Given the description of an element on the screen output the (x, y) to click on. 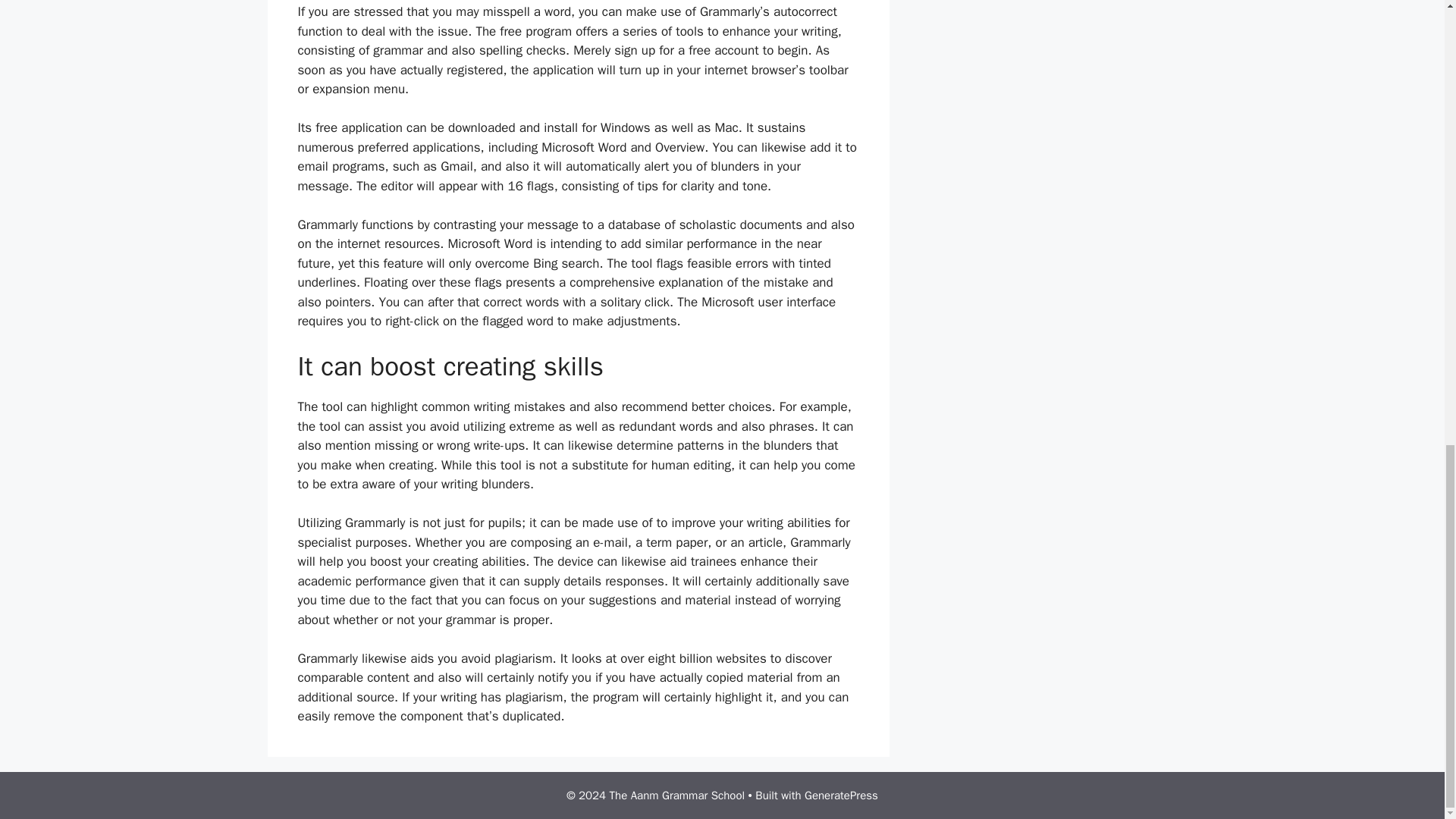
GeneratePress (841, 795)
